Given the description of an element on the screen output the (x, y) to click on. 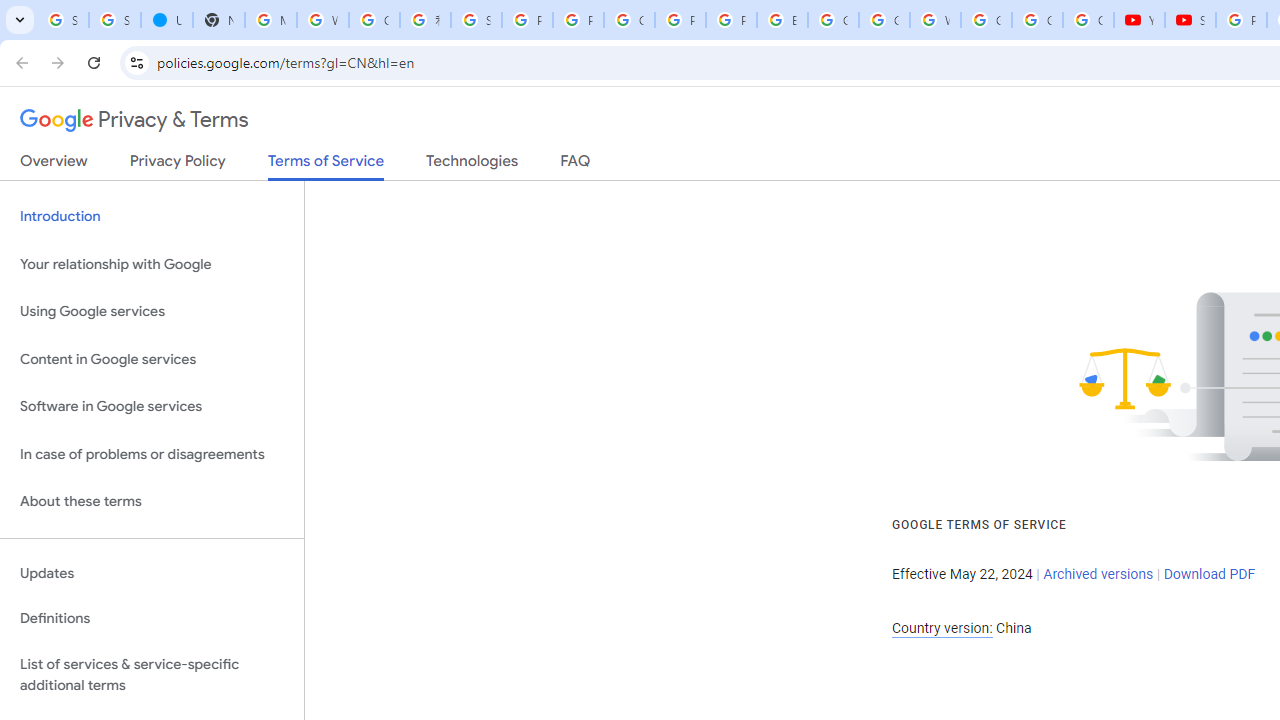
Sign in - Google Accounts (475, 20)
Welcome to My Activity (935, 20)
